Given the description of an element on the screen output the (x, y) to click on. 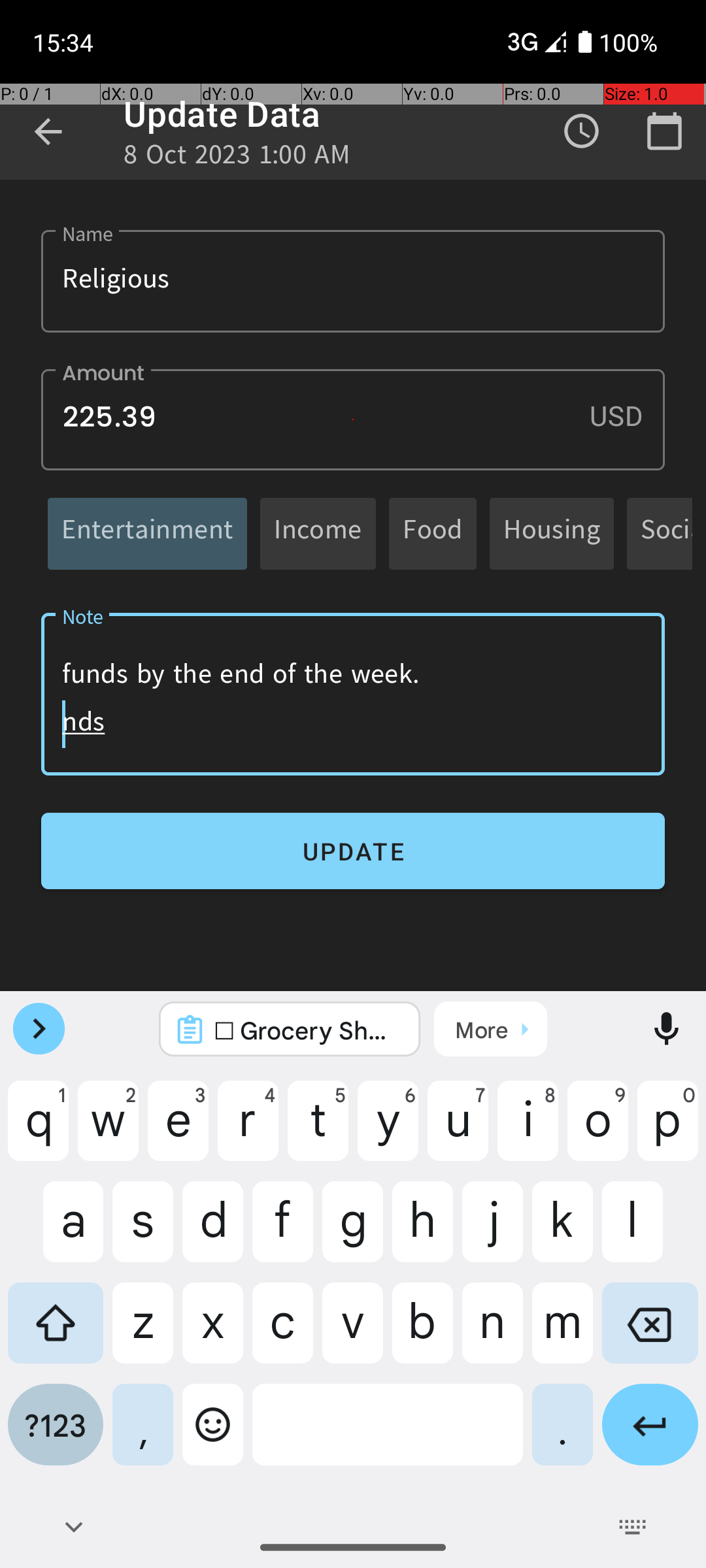
8 Oct 2023 1:00 AM Element type: android.widget.TextView (237, 157)
Religious Element type: android.widget.EditText (352, 280)
225.39 Element type: android.widget.EditText (352, 419)
Remember to transfer fuPlease transfer the funds by the end of the week.
nds Element type: android.widget.EditText (352, 693)
Open features menu Element type: android.widget.FrameLayout (39, 1028)
Click to open Clipboard Element type: android.view.ViewGroup (490, 1028)
☐ Grocery Shopping ☐ Call Grandma ☐ Attend Team Meeting ☐ Take Dog to the Vet ☐ Finish Project Proposal ☐ Water Plants ☐ Reply to Emails ☐ Change Air Filter ☐ Submit Expense Report ☐ Submit Budget Report ☑ Read 'The Martian' ☑ Grocery Shopping ☑ Submit Expense Report ☑ Brainstorm Blog Post Ideas ☑ Change Air Filter ☑ Research Vacation Destinations ☑ Finish Project Proposal ☑ Change Air Filter ☑ Take Dog to the Vet ☑ Submit Expense Report ☑ Learn to Play Guitar Element type: android.widget.TextView (306, 1029)
